Given the description of an element on the screen output the (x, y) to click on. 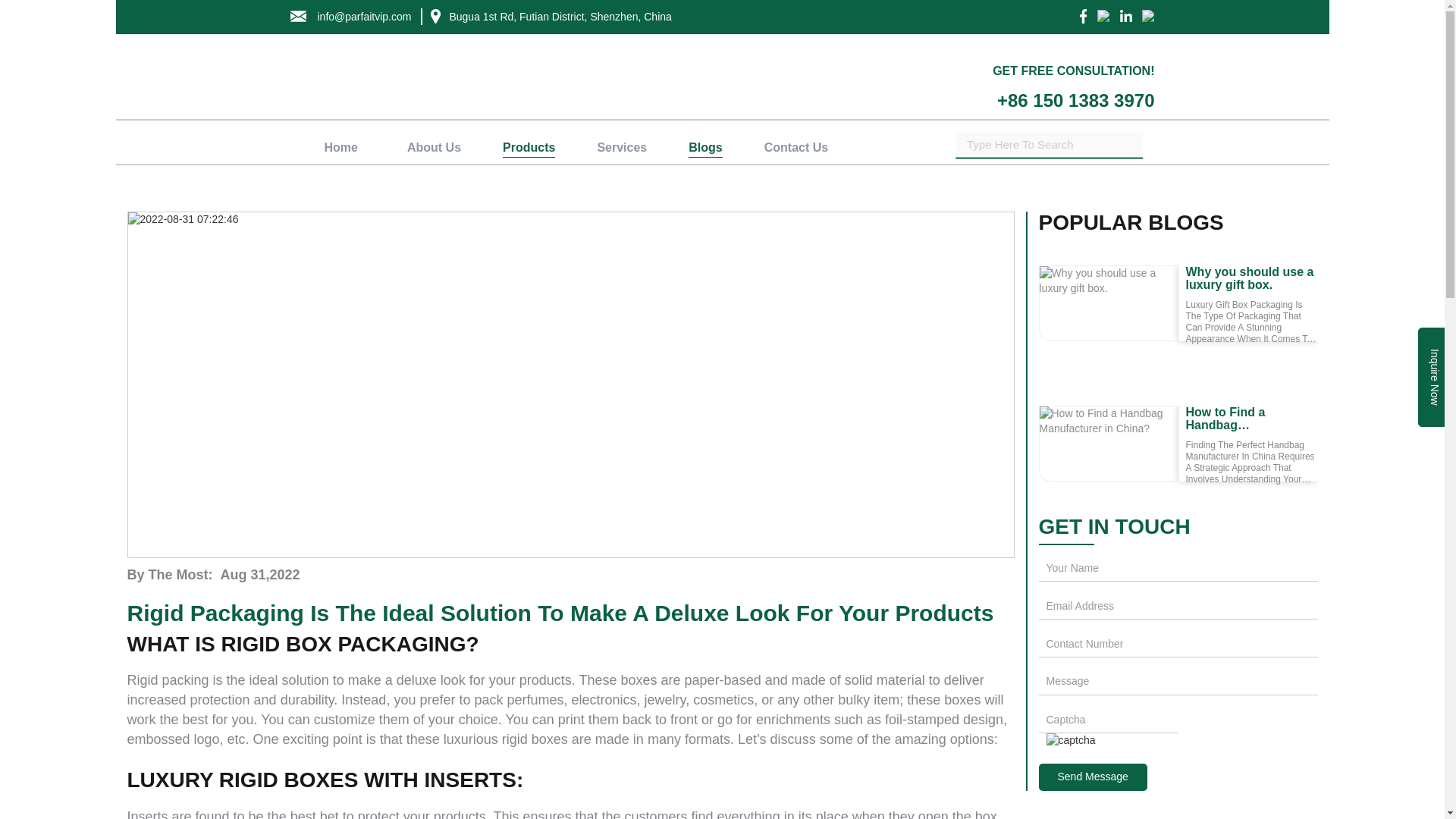
Submit (1093, 777)
Why you should use a luxury gift box. (1107, 303)
How to Find a Handbag Manufacturer in China? (1107, 443)
